Given the description of an element on the screen output the (x, y) to click on. 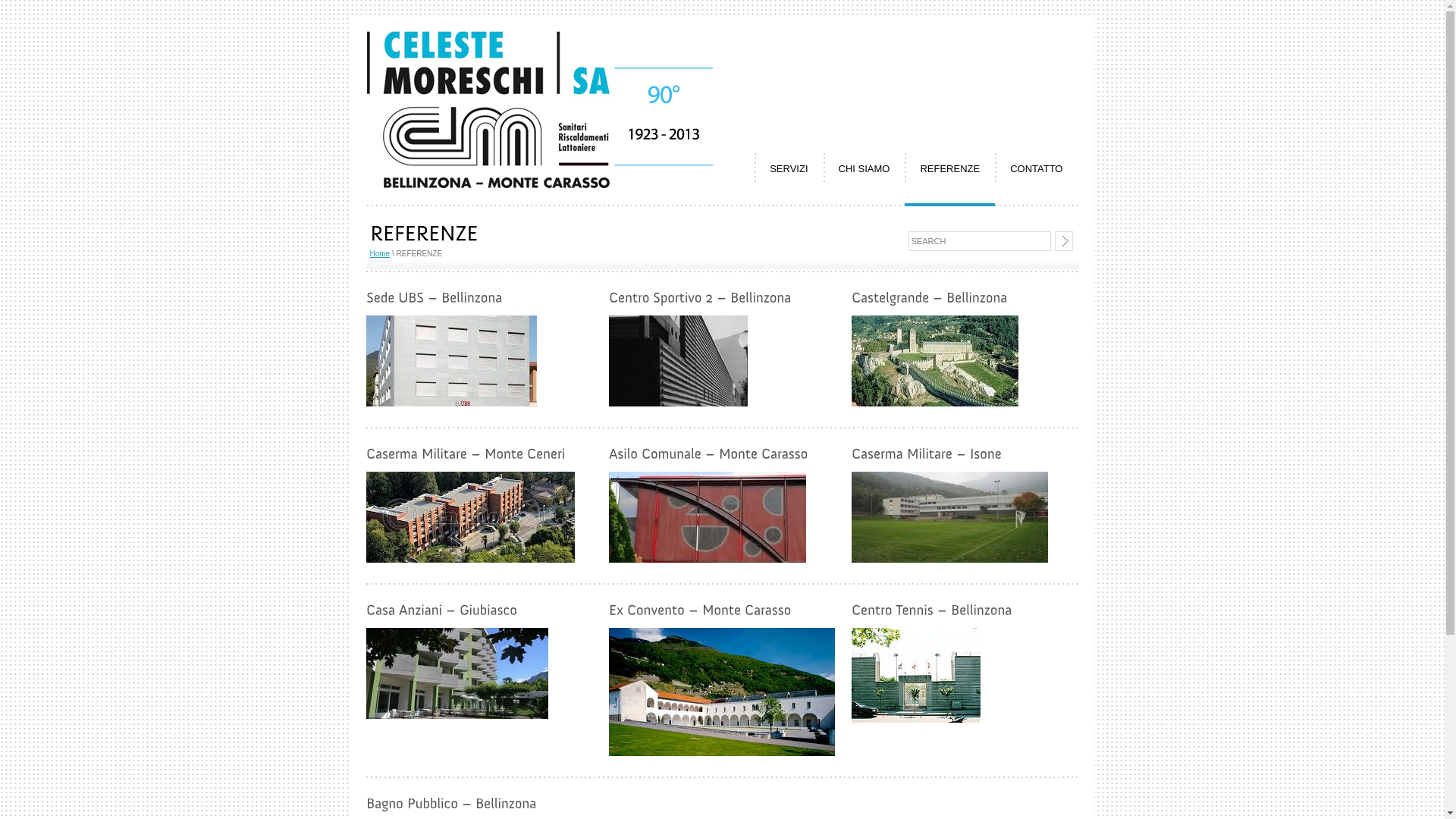
REFERENZE Element type: text (949, 169)
Celeste Moreschi SA Element type: hover (541, 184)
Home Element type: text (380, 253)
CONTATTO Element type: text (1035, 169)
CHI SIAMO Element type: text (864, 169)
SERVIZI Element type: text (788, 169)
